Given the description of an element on the screen output the (x, y) to click on. 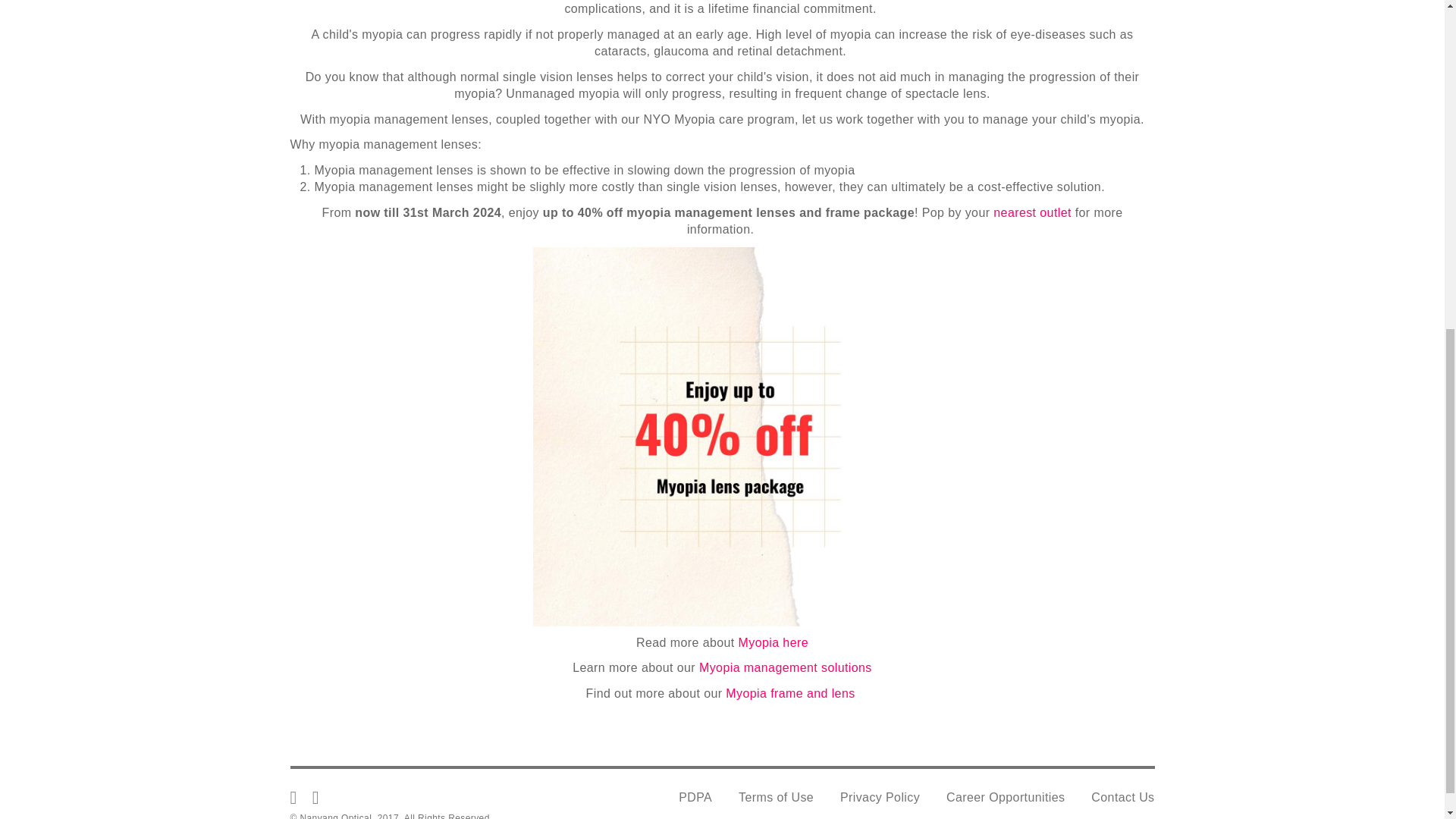
Myopia here (773, 642)
Join us for an exciting career path (1005, 798)
Reviews (792, 693)
Career Opportunities (1005, 798)
nearest outlet (1031, 212)
Privacy Policy (880, 798)
Contact Us (1122, 798)
Terms of Use (775, 798)
Myopia management solutions (785, 667)
Myopia frame and lens  (792, 693)
